Given the description of an element on the screen output the (x, y) to click on. 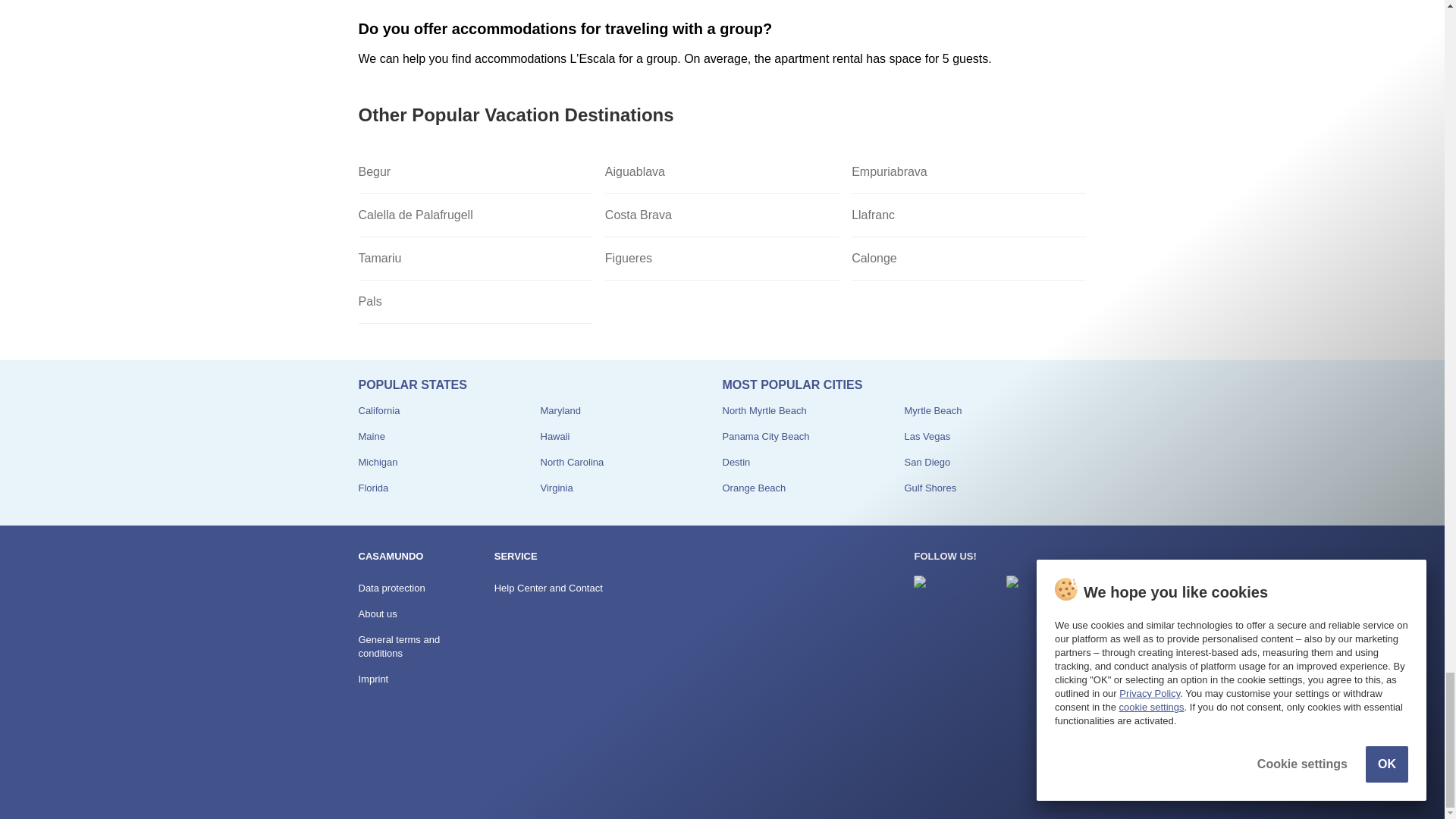
Begur (475, 172)
